Given the description of an element on the screen output the (x, y) to click on. 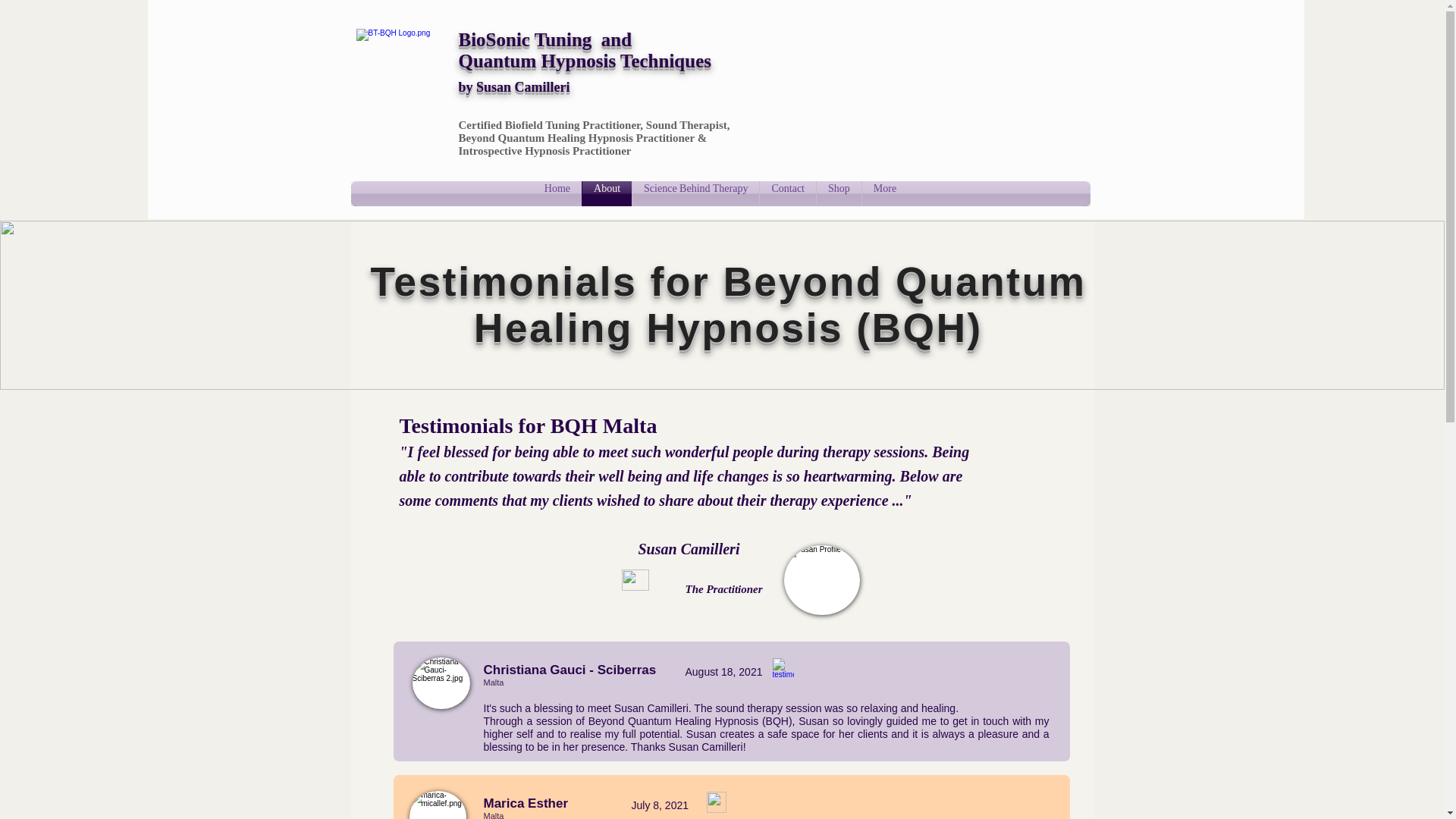
Shop (838, 193)
Science Behind Therapy (694, 193)
Contact (787, 193)
About (606, 193)
Home (556, 193)
